Given the description of an element on the screen output the (x, y) to click on. 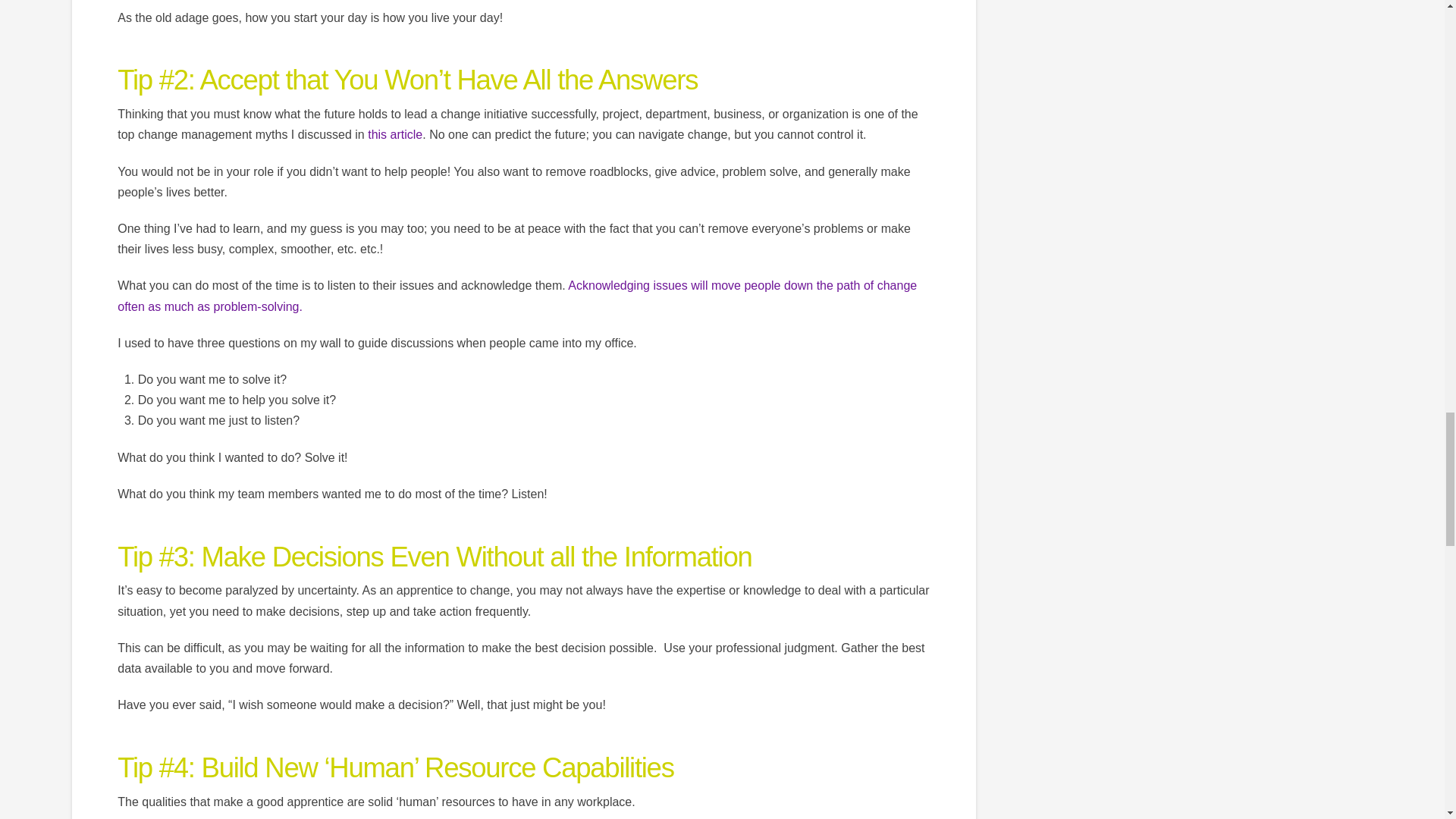
this article (395, 133)
